Given the description of an element on the screen output the (x, y) to click on. 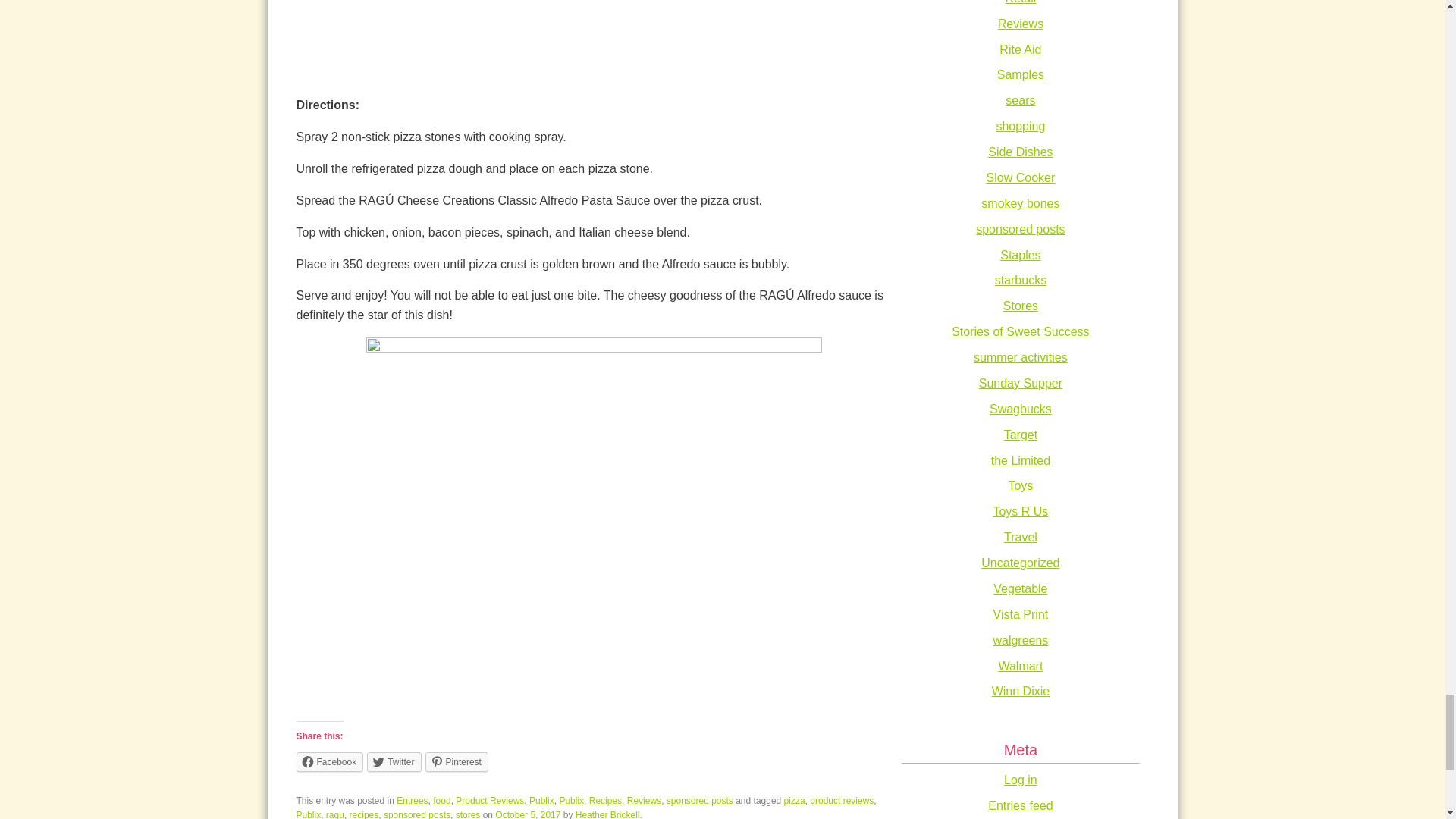
Click to share on Facebook (328, 762)
Click to share on Pinterest (456, 762)
9:15 am (527, 814)
Click to share on Twitter (393, 762)
